Given the description of an element on the screen output the (x, y) to click on. 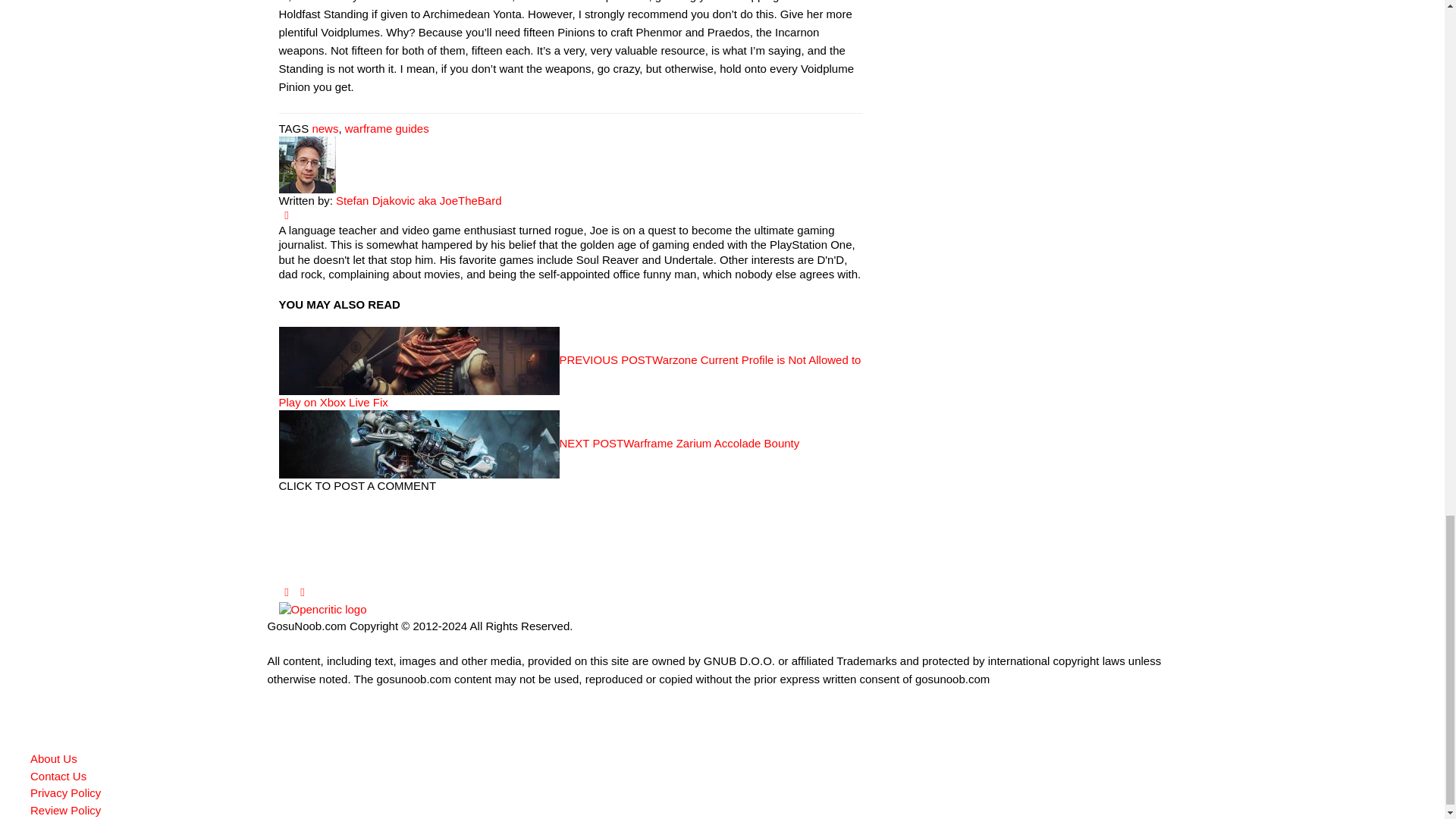
About Us (53, 758)
NEXT POSTWarframe Zarium Accolade Bounty (539, 442)
warframe guides (387, 128)
Contact Us (57, 775)
Review Policy (65, 809)
Author Twitter Profile (287, 214)
Privacy Policy (65, 792)
Youtube Channel (302, 591)
Stefan Djakovic aka JoeTheBard (418, 200)
